Given the description of an element on the screen output the (x, y) to click on. 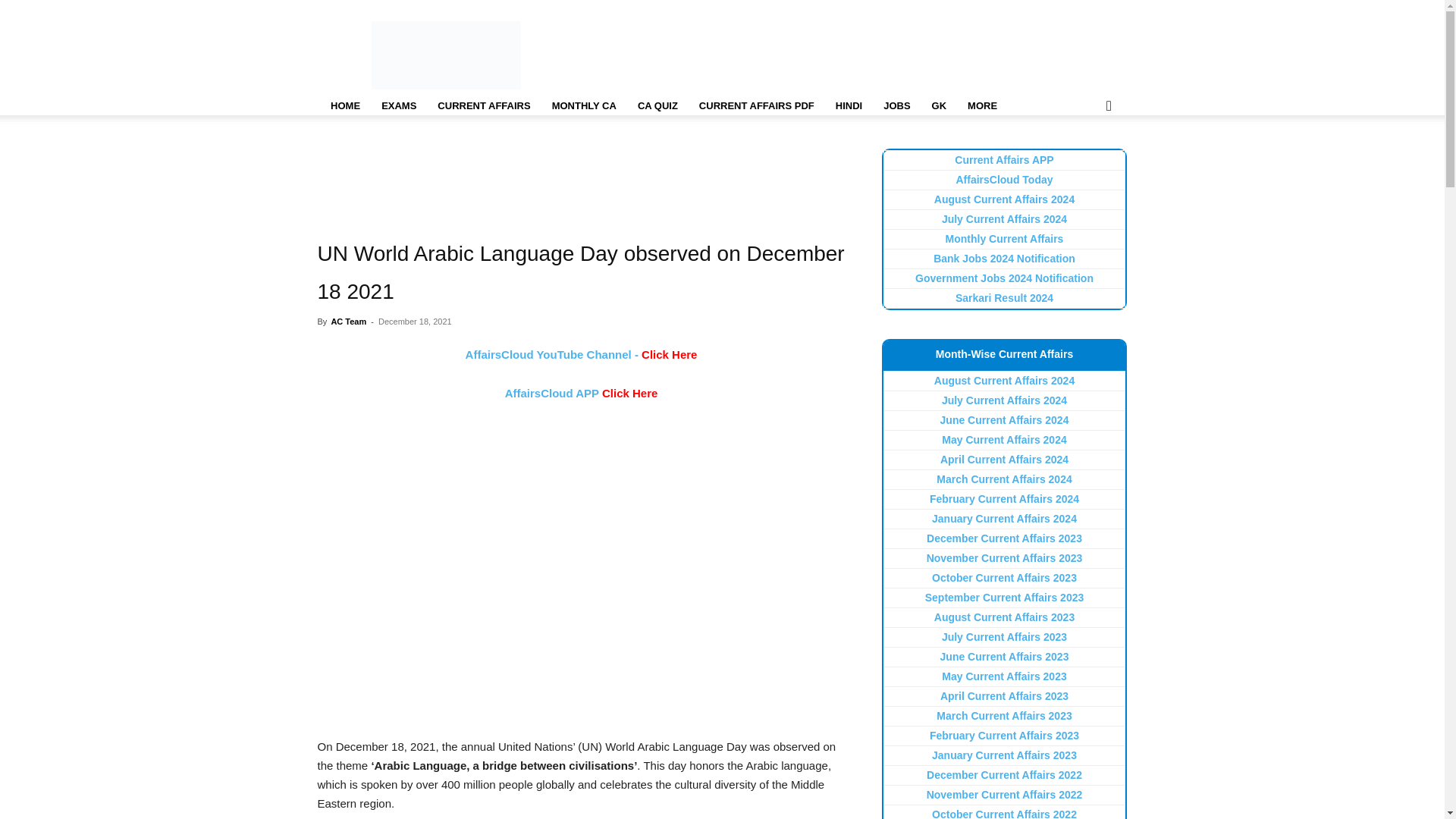
Current Affairs (483, 105)
Current Affairs Hindi (848, 105)
Current Affairs PDF (756, 105)
AffairsCloud (446, 55)
Home (344, 105)
Current Affairs Quiz (657, 105)
